Given the description of an element on the screen output the (x, y) to click on. 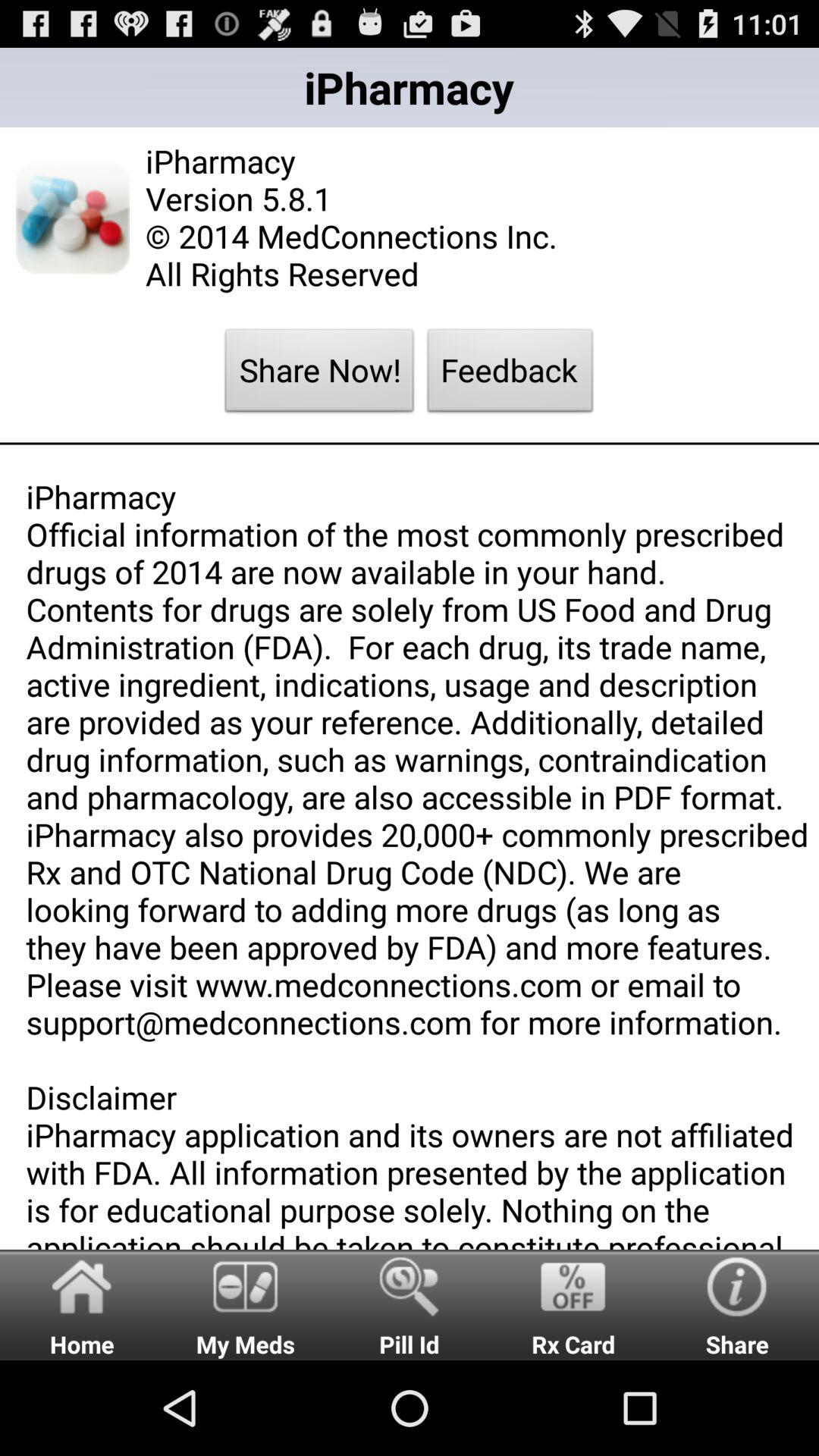
click the icon to the left of the rx card icon (409, 1304)
